Given the description of an element on the screen output the (x, y) to click on. 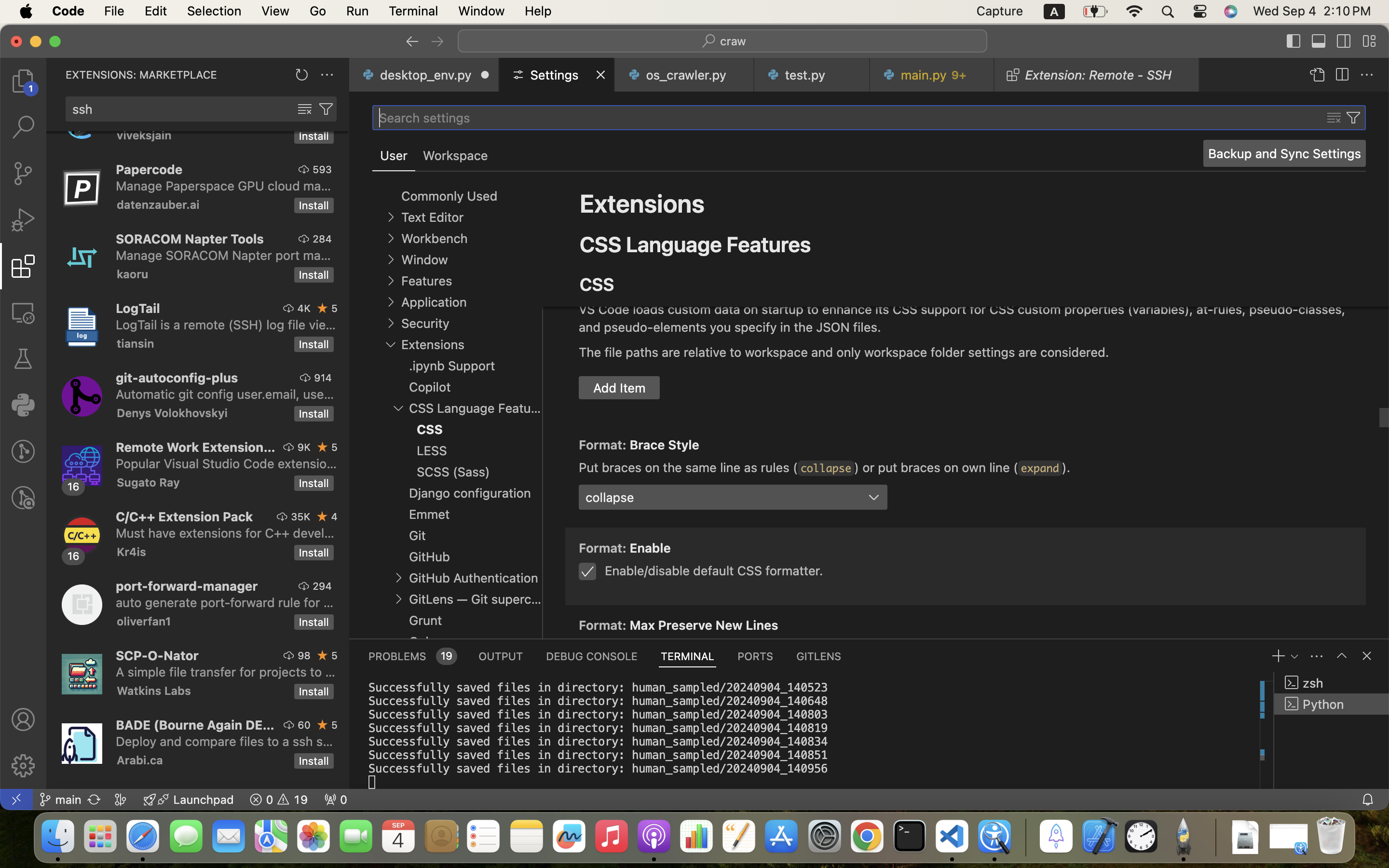
CSS Language Features Element type: AXStaticText (695, 243)
Launchpad   Element type: AXButton (188, 799)
 Element type: AXStaticText (390, 216)
Django configuration Element type: AXStaticText (469, 493)
craw Element type: AXStaticText (733, 41)
